Given the description of an element on the screen output the (x, y) to click on. 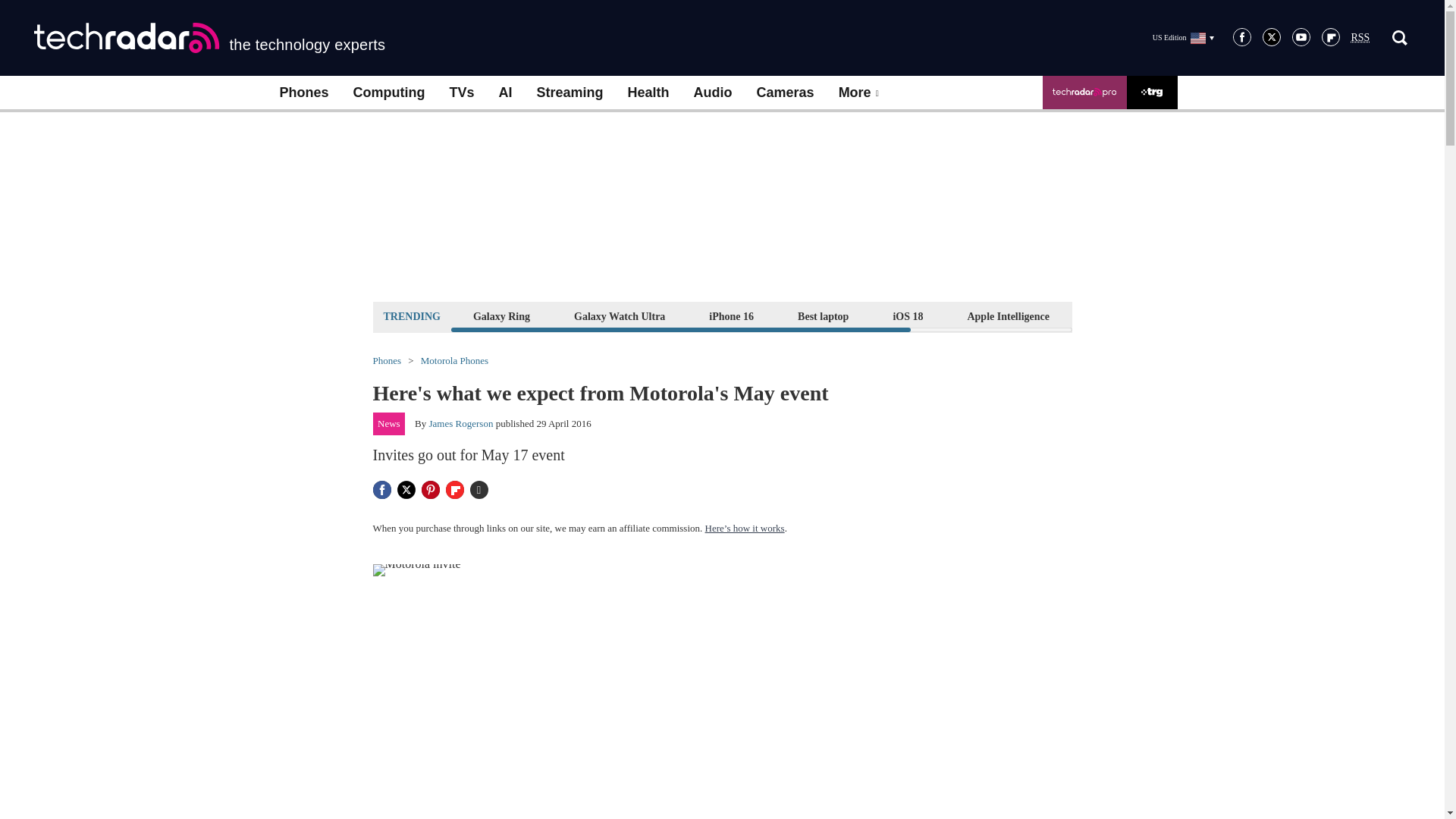
Computing (389, 92)
Health (648, 92)
AI (505, 92)
Audio (712, 92)
Cameras (785, 92)
US Edition (1182, 37)
Really Simple Syndication (1360, 37)
TVs (461, 92)
the technology experts (209, 38)
Phones (303, 92)
Streaming (569, 92)
